Given the description of an element on the screen output the (x, y) to click on. 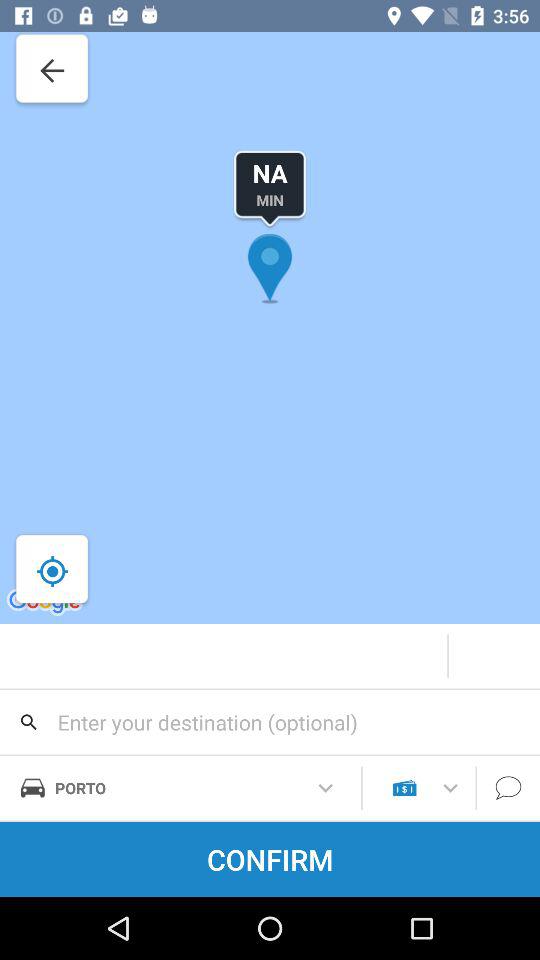
click on the location icon (269, 311)
select the arrow at left side of chat icon (449, 787)
click on downward arrow next to text porto (325, 787)
